Given the description of an element on the screen output the (x, y) to click on. 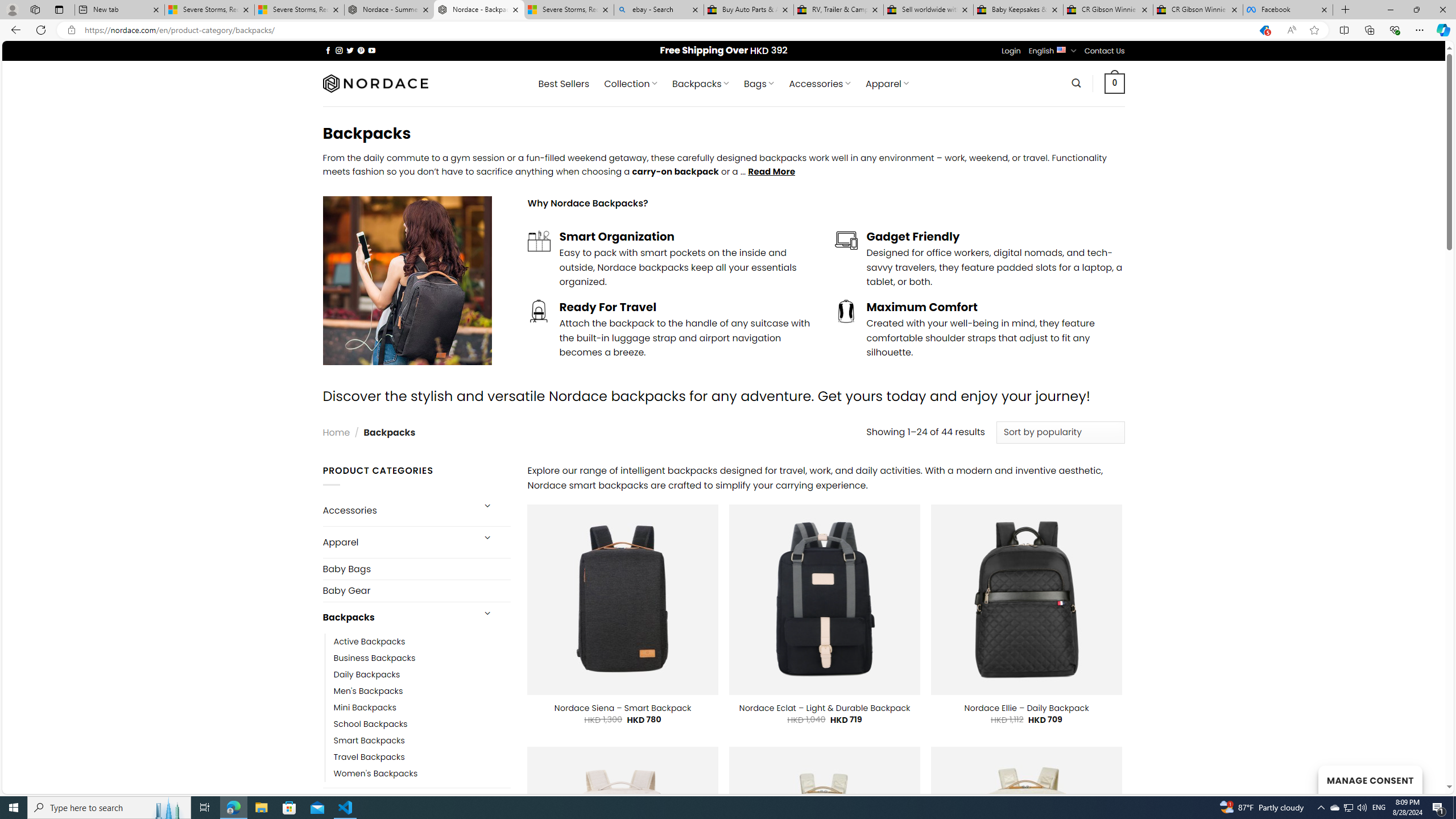
Travel Backpacks (422, 756)
This site has coupons! Shopping in Microsoft Edge, 5 (1263, 29)
Daily Backpacks (422, 674)
